Given the description of an element on the screen output the (x, y) to click on. 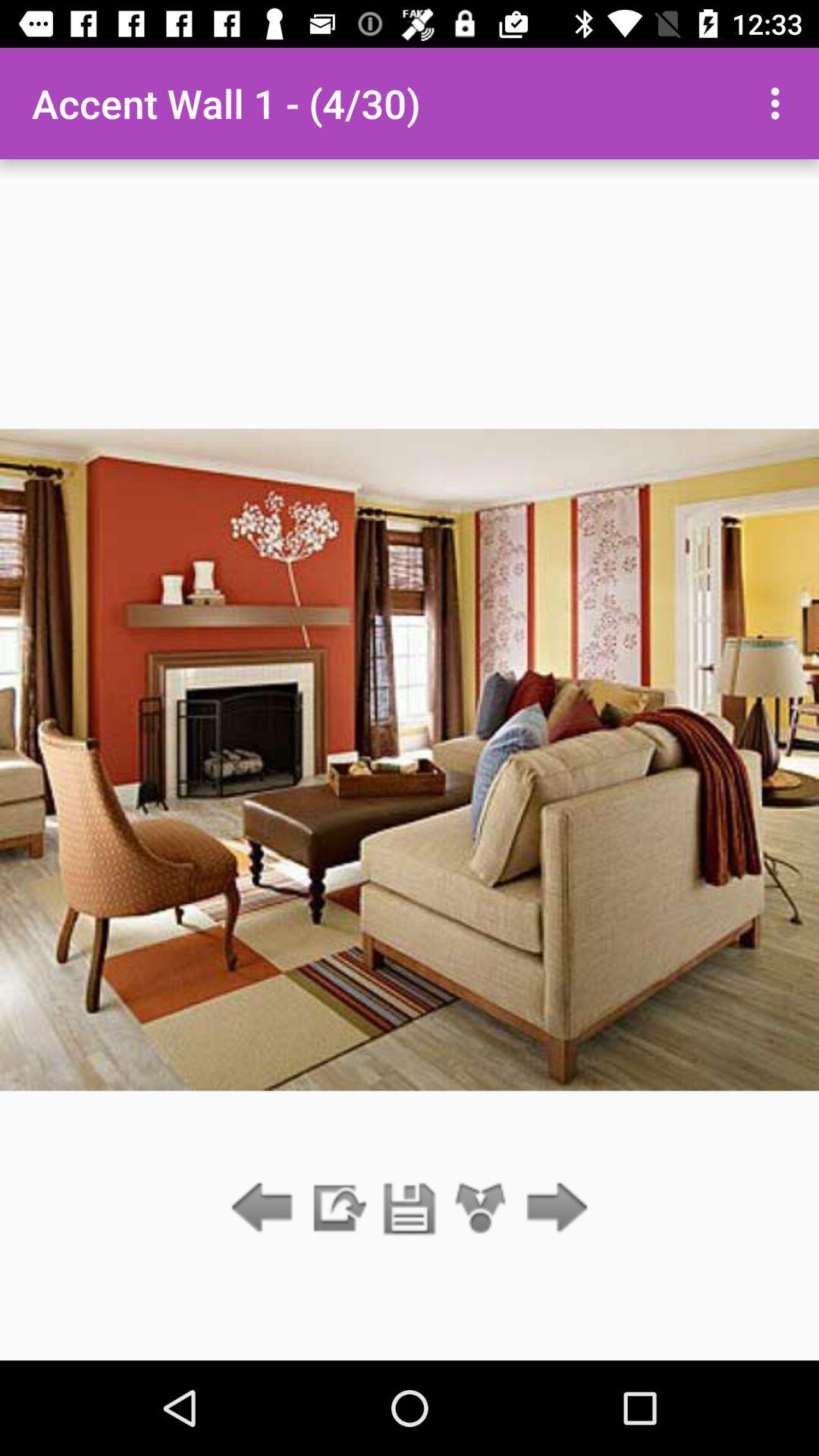
tap the icon at the top right corner (779, 103)
